Given the description of an element on the screen output the (x, y) to click on. 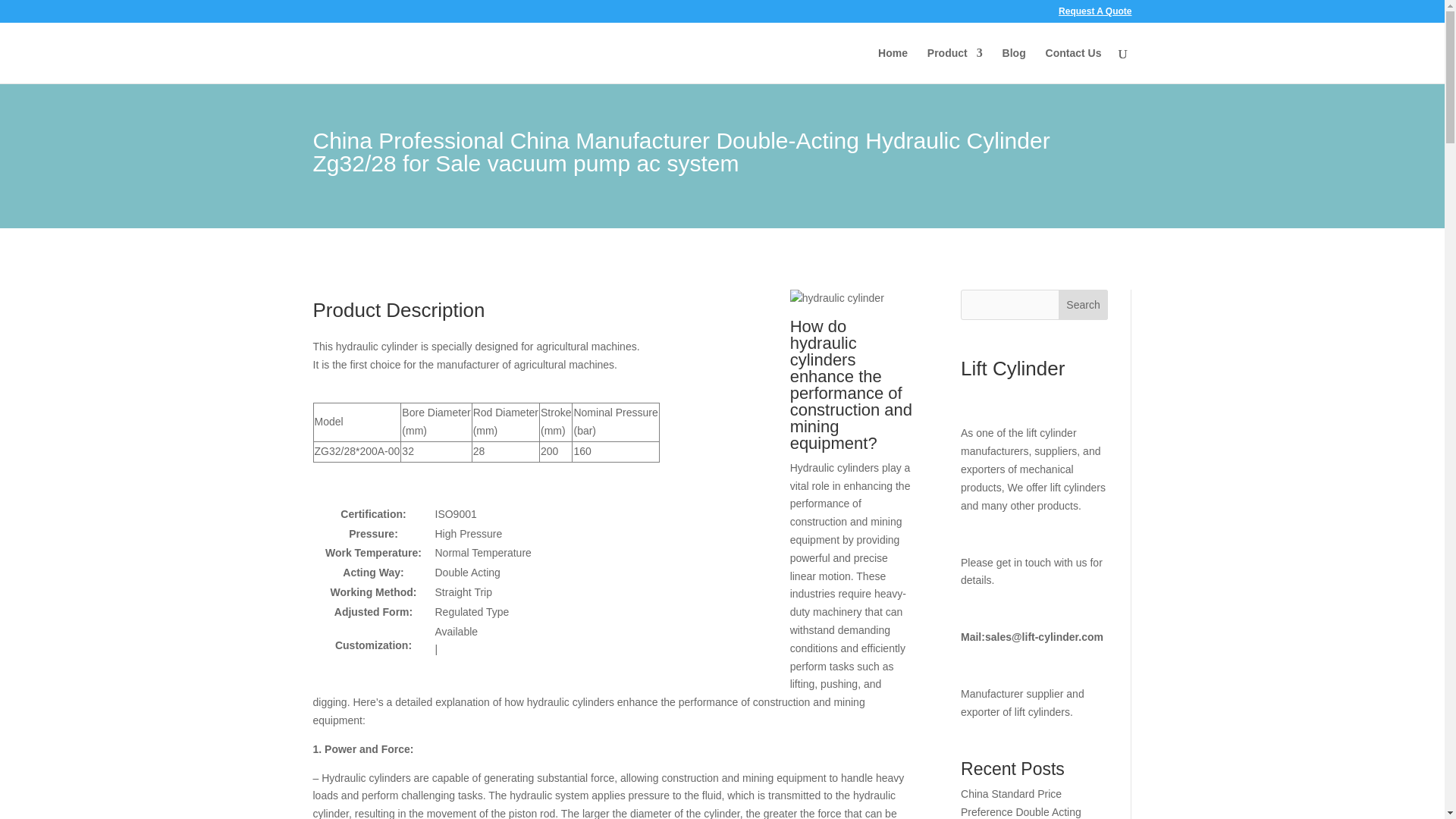
Product (954, 65)
Request A Quote (1094, 14)
Contact Us (1073, 65)
